Given the description of an element on the screen output the (x, y) to click on. 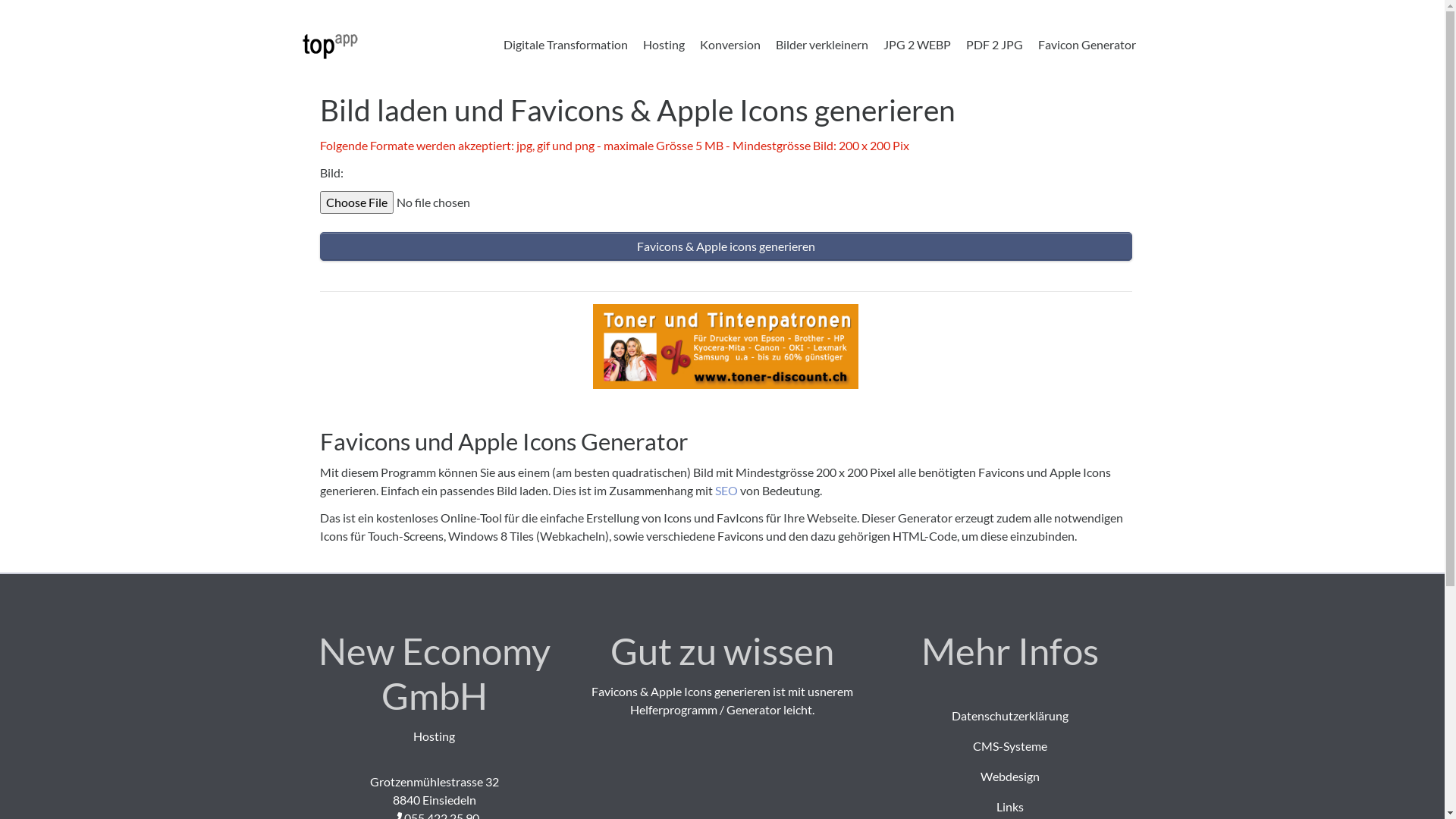
Konversion Element type: text (729, 44)
Webdesign Element type: text (1009, 776)
SEO Element type: text (725, 490)
Digitale Transformation Element type: text (565, 44)
Bilder verkleinern Element type: text (821, 44)
PDF 2 JPG Element type: text (994, 44)
Billiger Toner kaufen Element type: hover (725, 344)
Favicons & Apple icons generieren Element type: text (726, 246)
Hosting Element type: text (663, 44)
JPG 2 WEBP Element type: text (916, 44)
CMS-Systeme Element type: text (1009, 746)
Favicon Generator Element type: text (1085, 44)
